Given the description of an element on the screen output the (x, y) to click on. 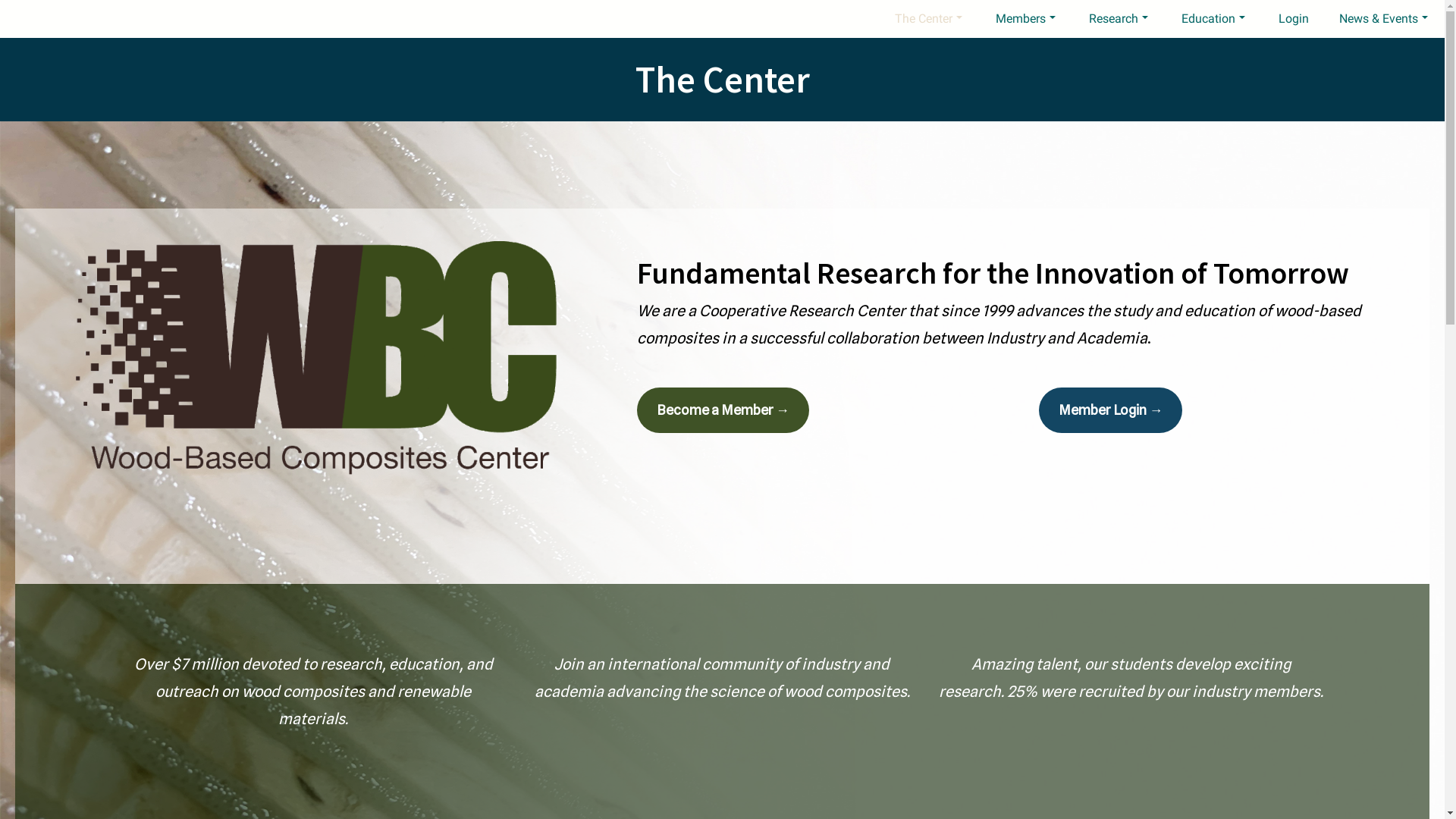
Research Element type: text (1119, 18)
Education Element type: text (1214, 18)
The Center Element type: text (722, 79)
News & Events Element type: text (1383, 18)
Members Element type: text (1026, 18)
The Center Element type: text (929, 18)
Login Element type: text (1293, 18)
